Given the description of an element on the screen output the (x, y) to click on. 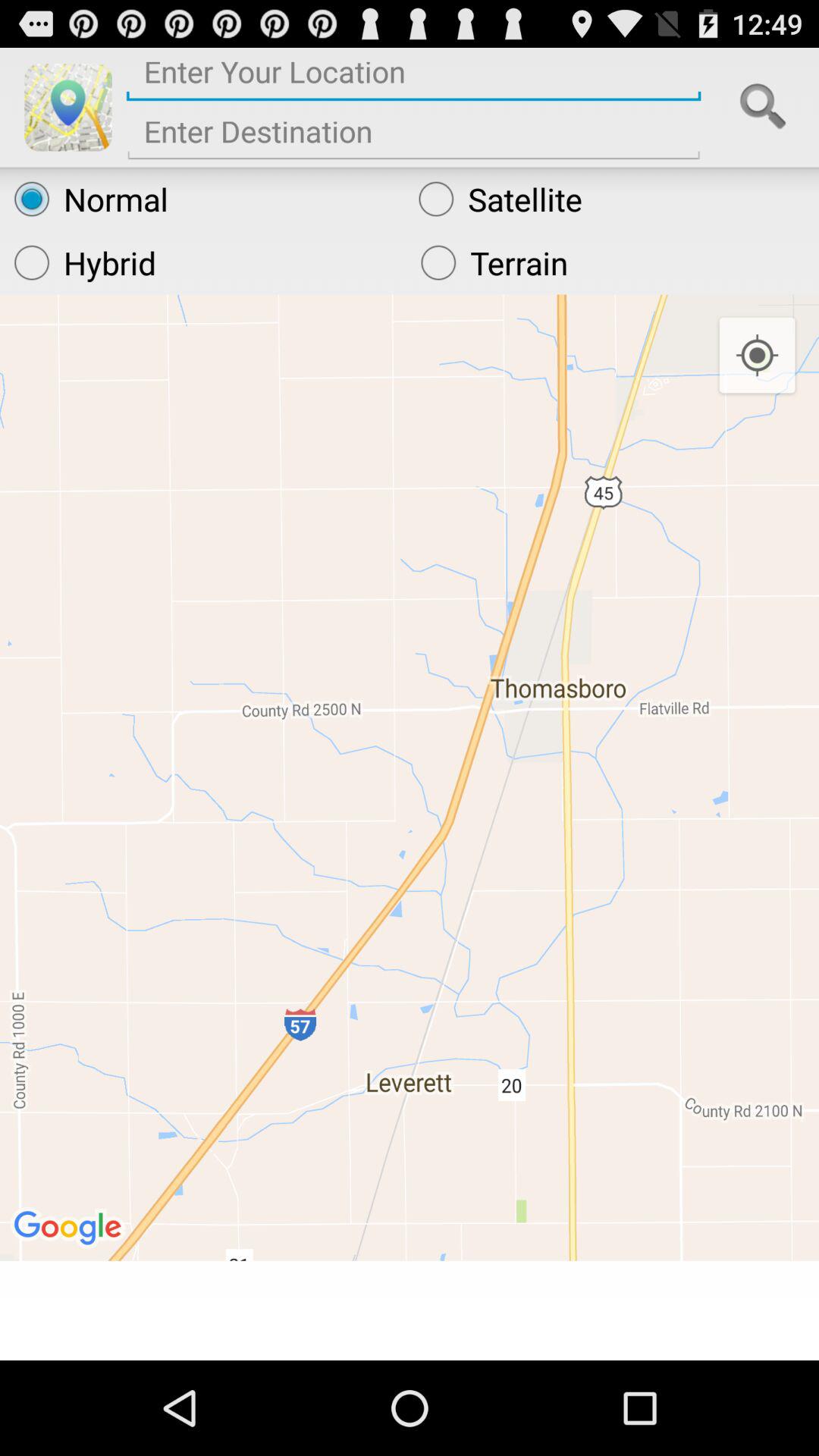
open the hybrid (203, 262)
